Given the description of an element on the screen output the (x, y) to click on. 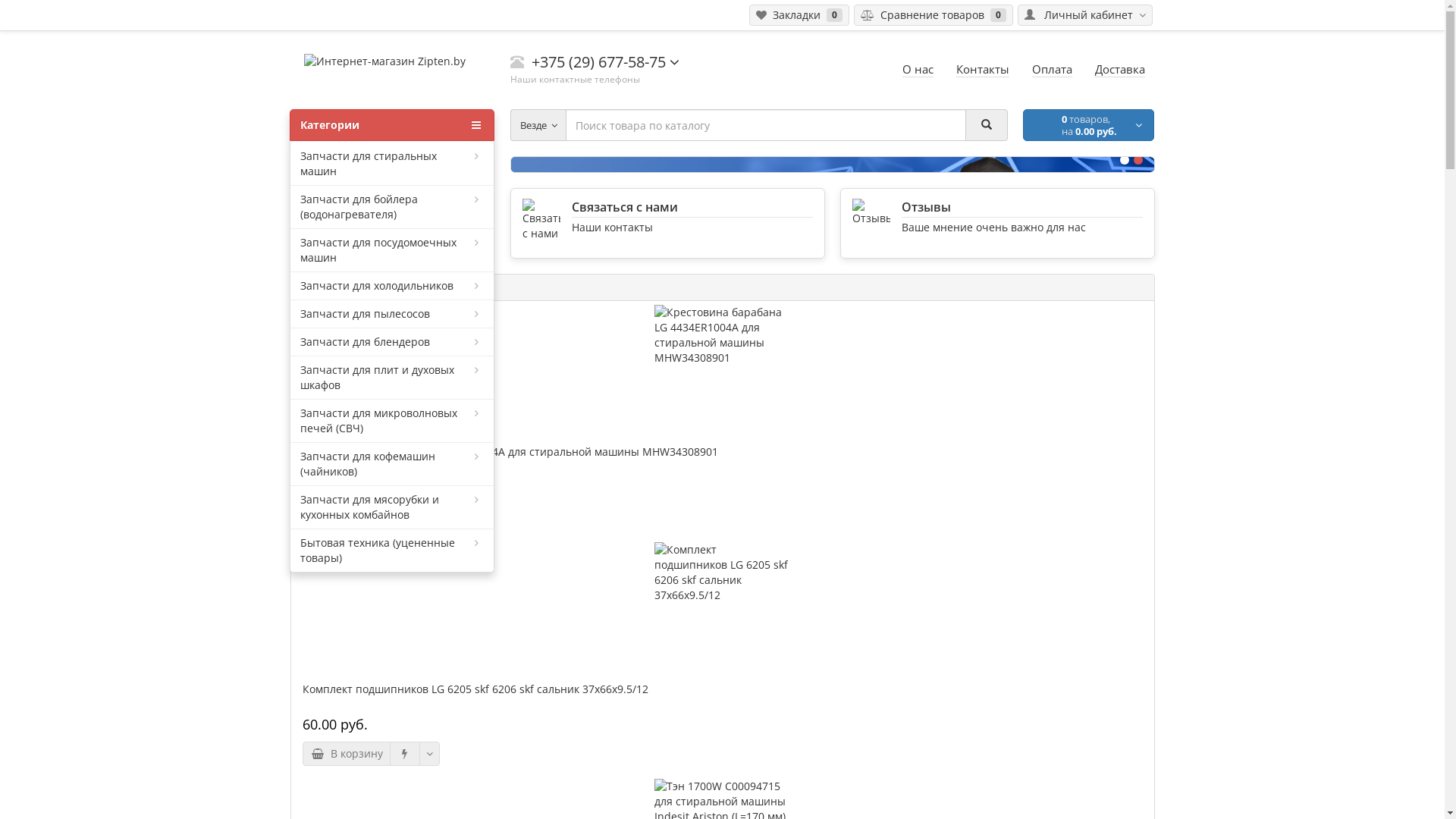
2 Element type: text (1137, 159)
1 Element type: text (1123, 159)
